Given the description of an element on the screen output the (x, y) to click on. 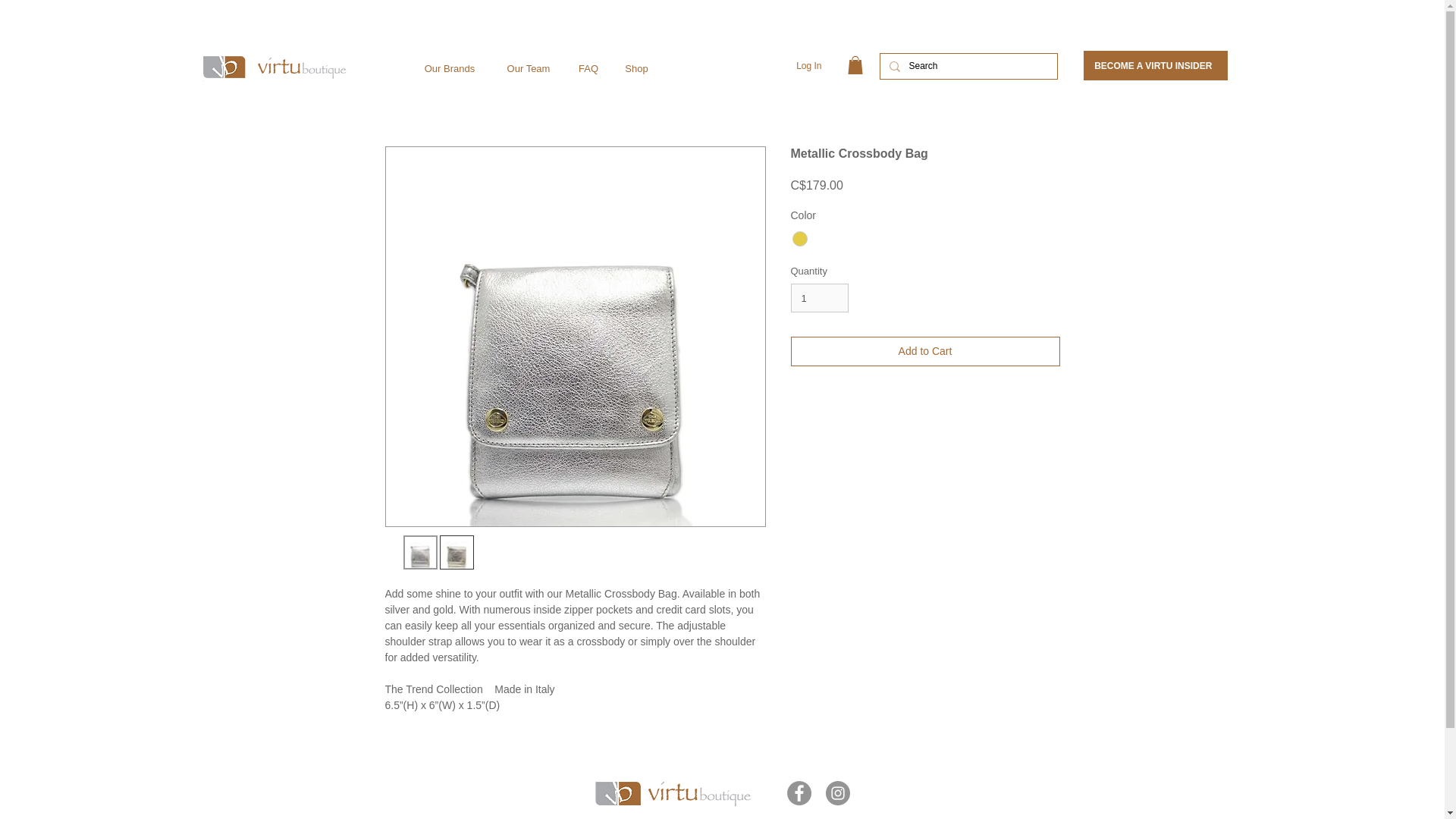
Our Team (529, 62)
Shop (636, 62)
FAQ (588, 62)
Our Brands (448, 62)
BECOME A VIRTU INSIDER (1155, 65)
1 (818, 297)
Add to Cart (924, 351)
Log In (808, 65)
